Given the description of an element on the screen output the (x, y) to click on. 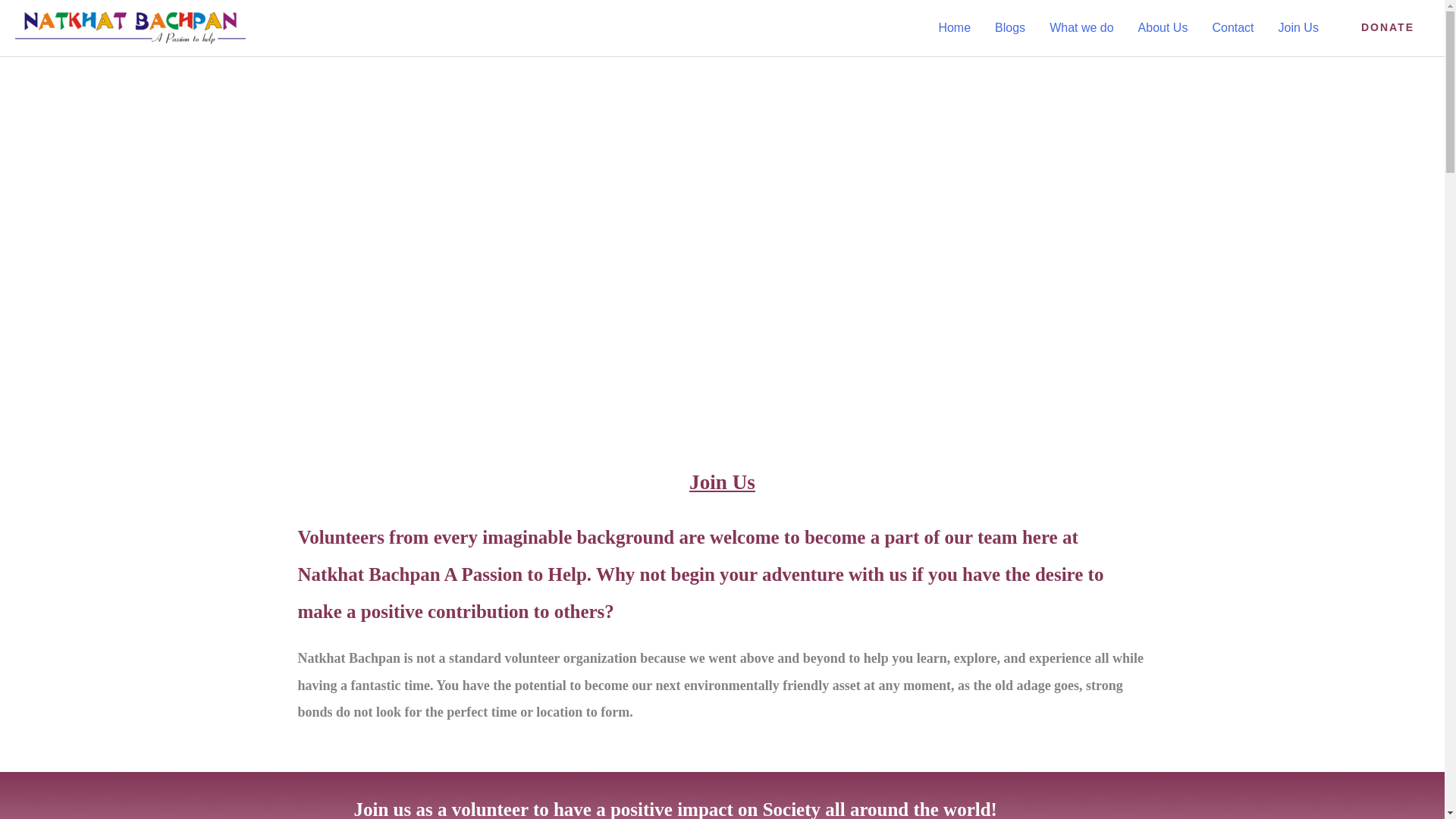
DONATE (1387, 27)
Home (954, 27)
Join Us (1298, 27)
Contact (1232, 27)
About Us (1162, 27)
What we do (1080, 27)
Blogs (1009, 27)
